Given the description of an element on the screen output the (x, y) to click on. 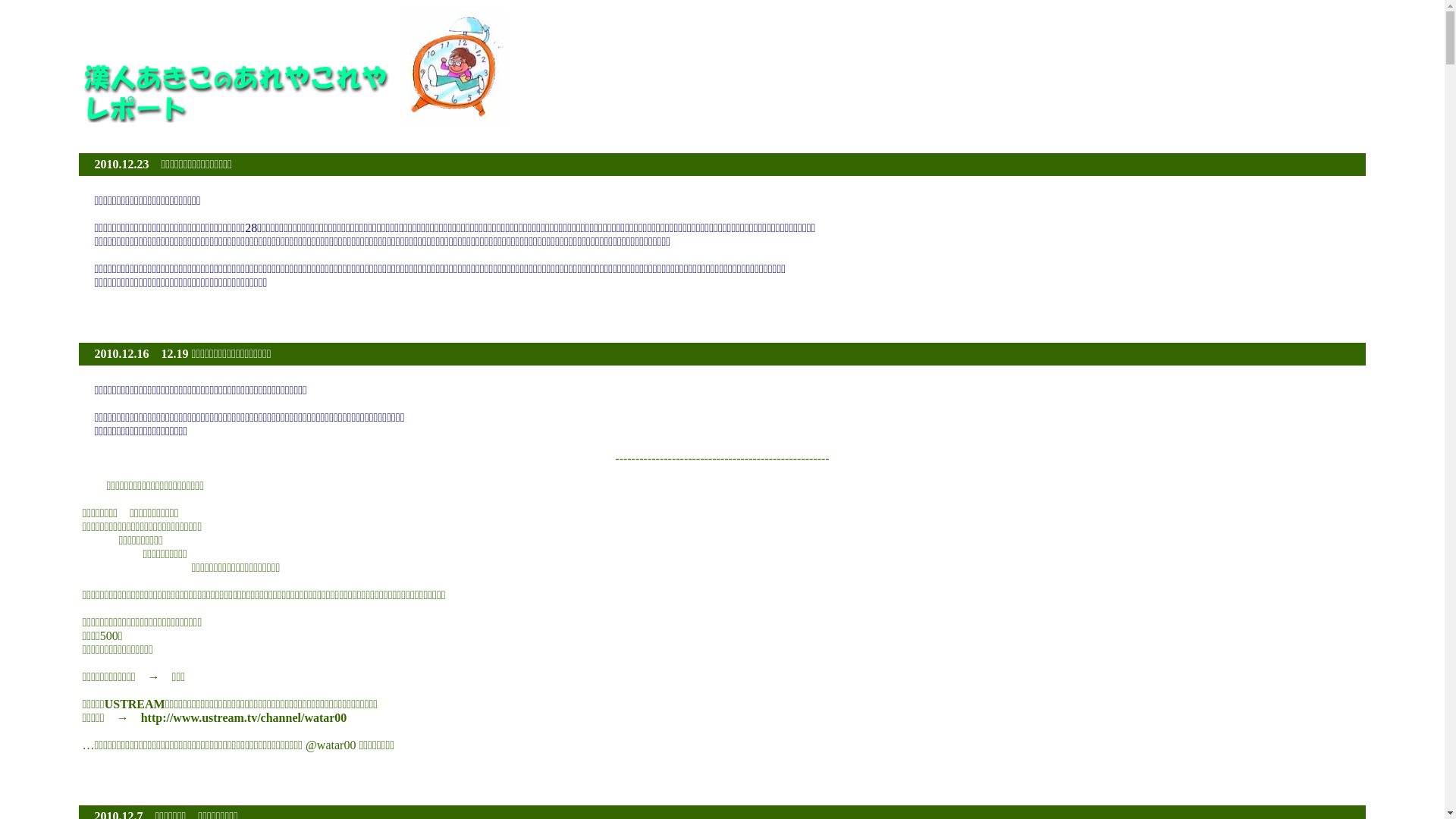
http://www.ustream.tv/channel/watar00 Element type: text (244, 717)
